Given the description of an element on the screen output the (x, y) to click on. 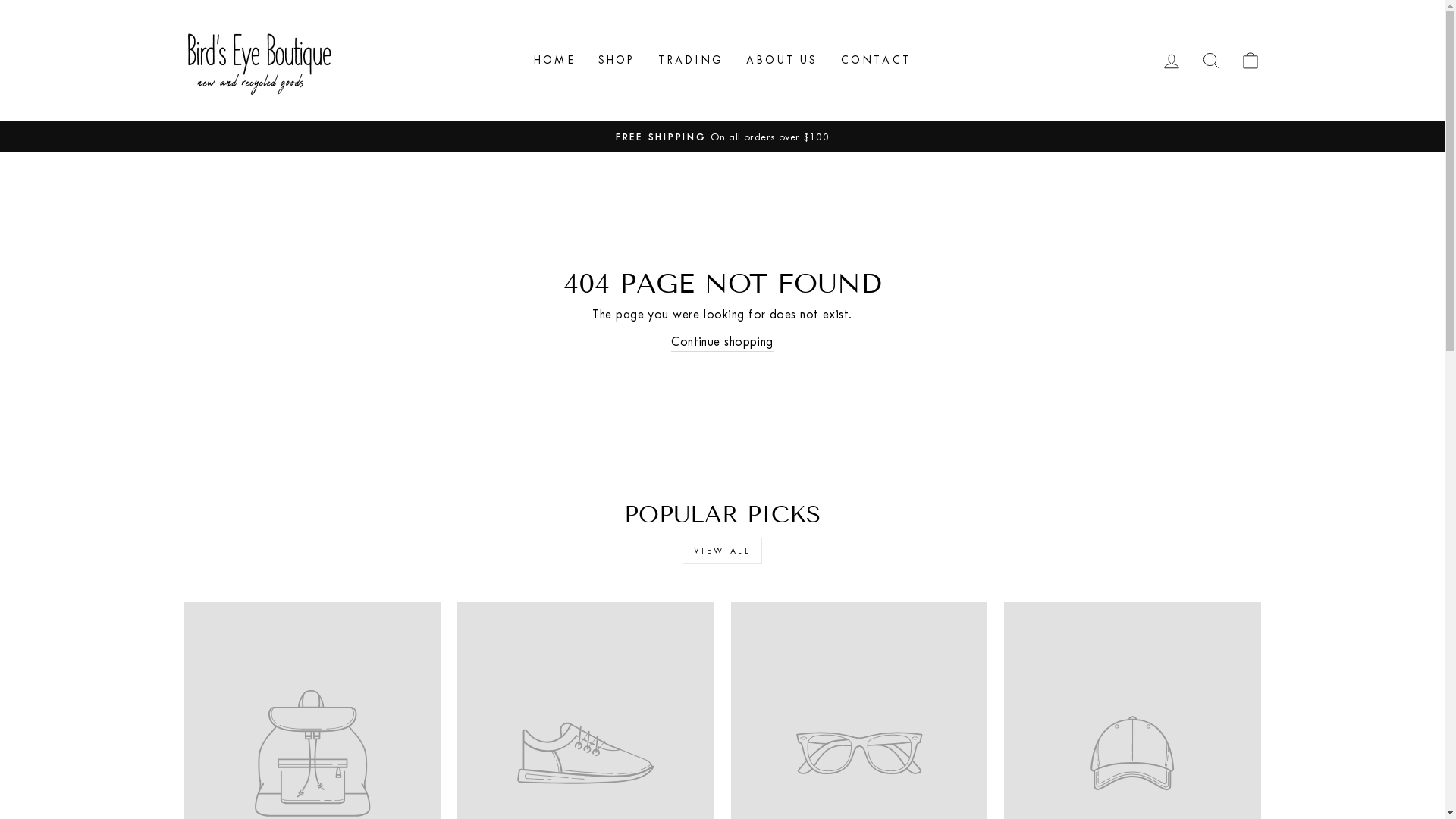
CART Element type: text (1249, 59)
TRADING Element type: text (690, 60)
ABOUT US Element type: text (781, 60)
SHOP Element type: text (616, 60)
VIEW ALL Element type: text (722, 550)
CONTACT Element type: text (875, 60)
SEARCH Element type: text (1210, 59)
LOG IN Element type: text (1170, 59)
Skip to content Element type: text (0, 0)
Continue shopping Element type: text (722, 341)
HOME Element type: text (554, 60)
